Given the description of an element on the screen output the (x, y) to click on. 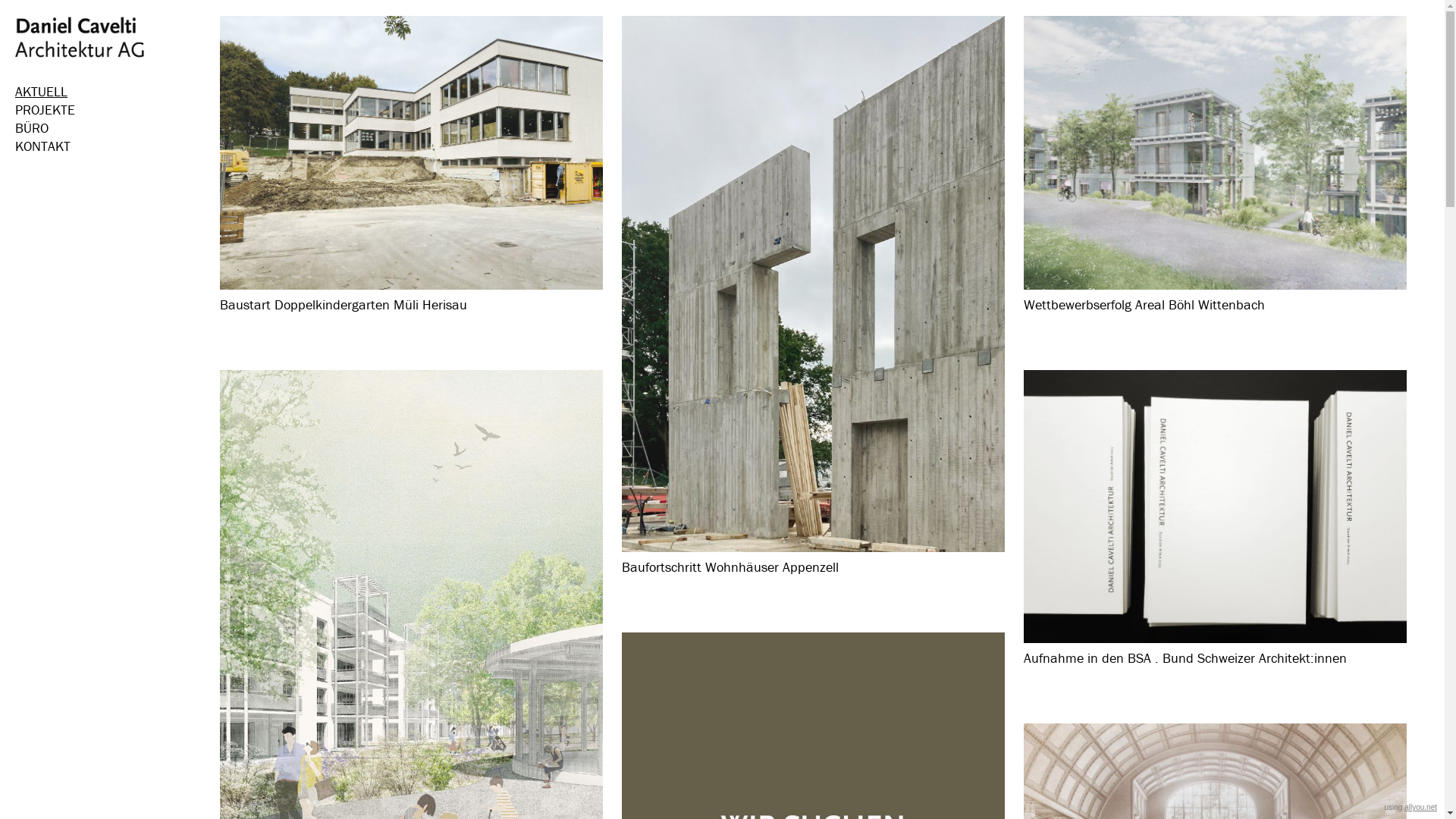
PROJEKTE Element type: text (109, 109)
Aufnahme in den BSA . Bund Schweizer Architekt:innen Element type: text (1214, 531)
KONTAKT Element type: text (109, 146)
AKTUELL Element type: text (109, 91)
allyou.net Element type: text (1420, 807)
